Given the description of an element on the screen output the (x, y) to click on. 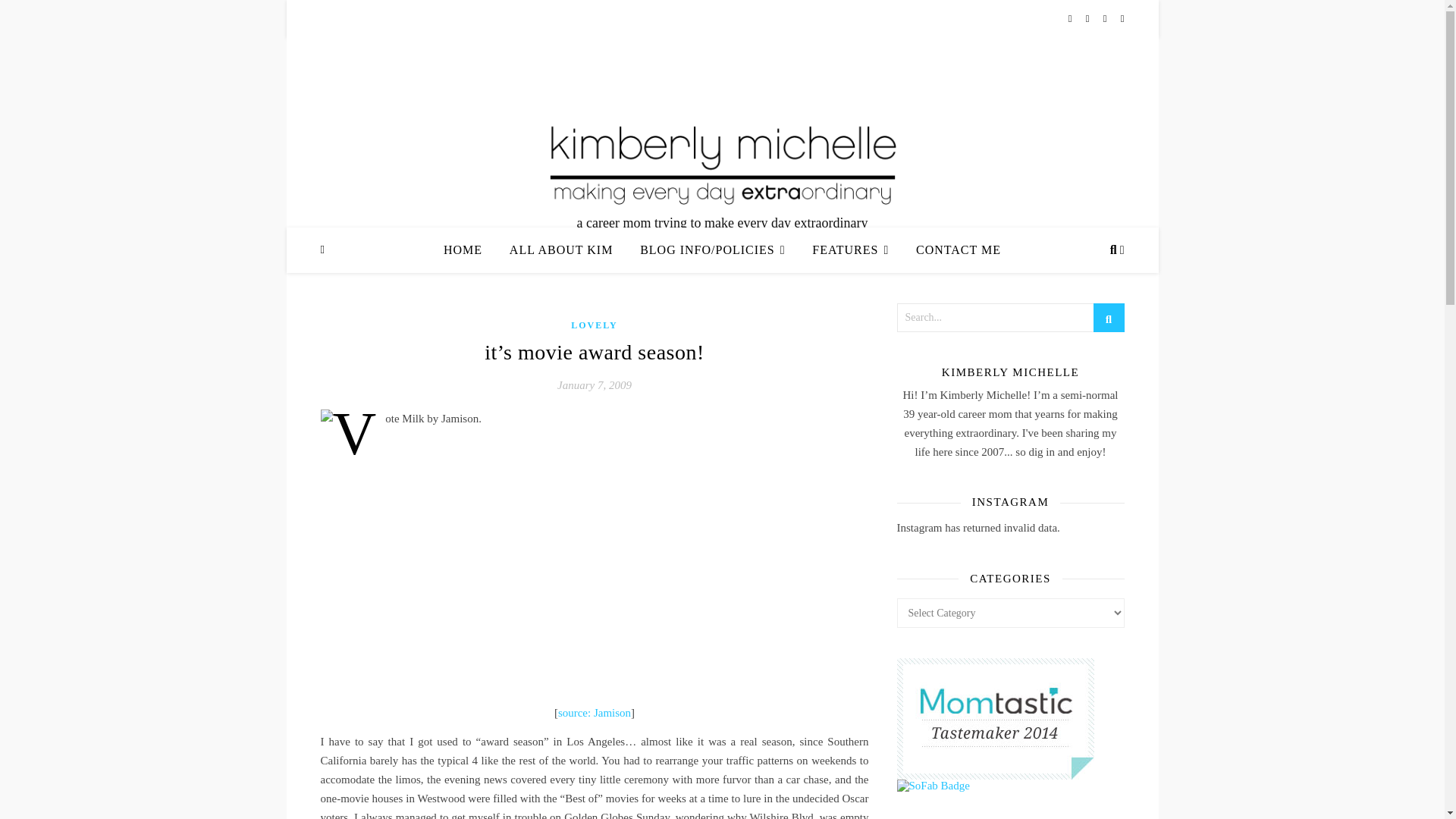
SoFab Badge (1010, 785)
ALL ABOUT KIM (561, 249)
HOME (469, 249)
FEATURES (850, 249)
CONTACT ME (952, 249)
Kimberly Michelle (721, 162)
